Given the description of an element on the screen output the (x, y) to click on. 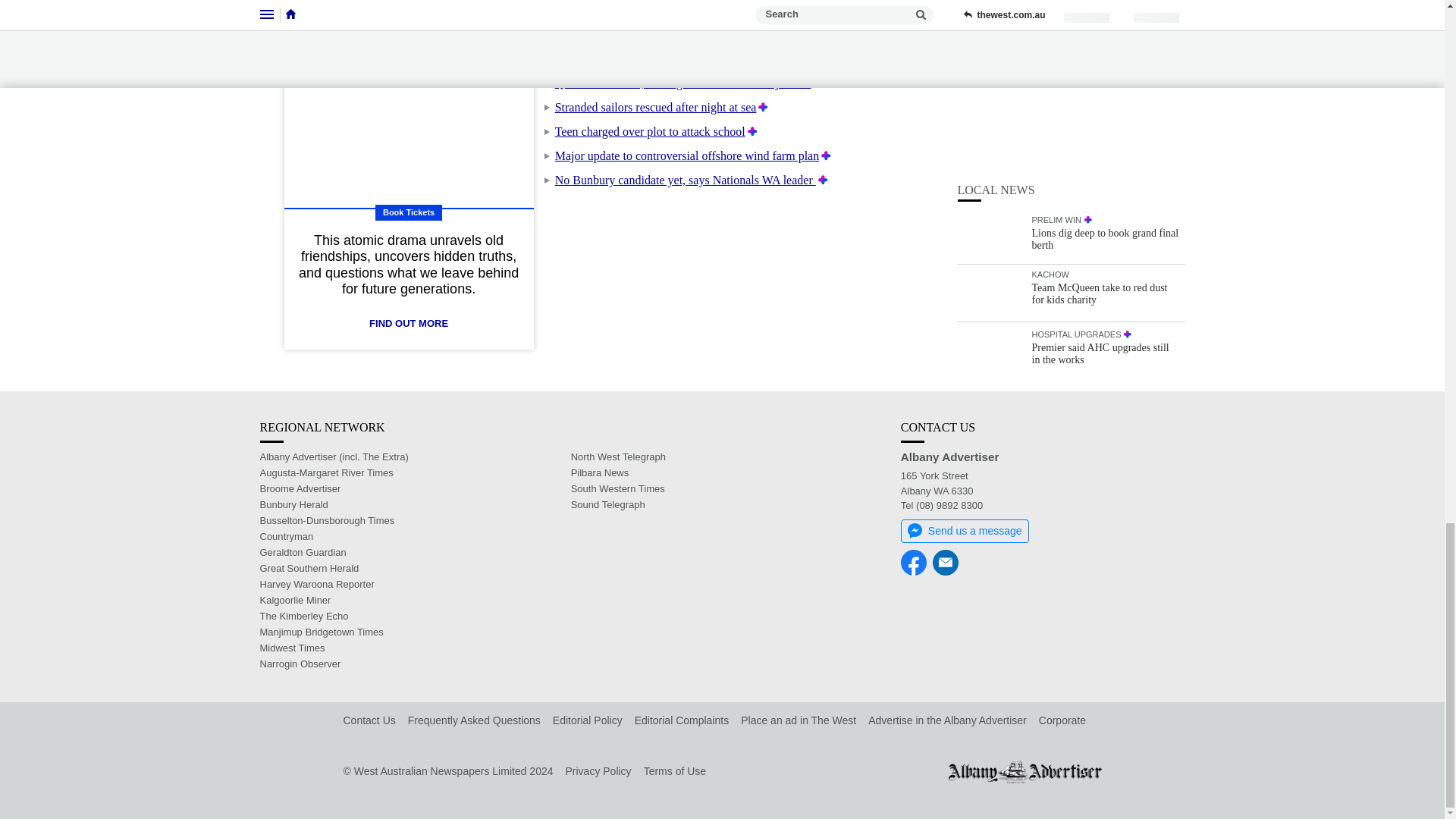
Premium (763, 106)
Premium (751, 131)
Premium (822, 179)
Premium (825, 155)
